Given the description of an element on the screen output the (x, y) to click on. 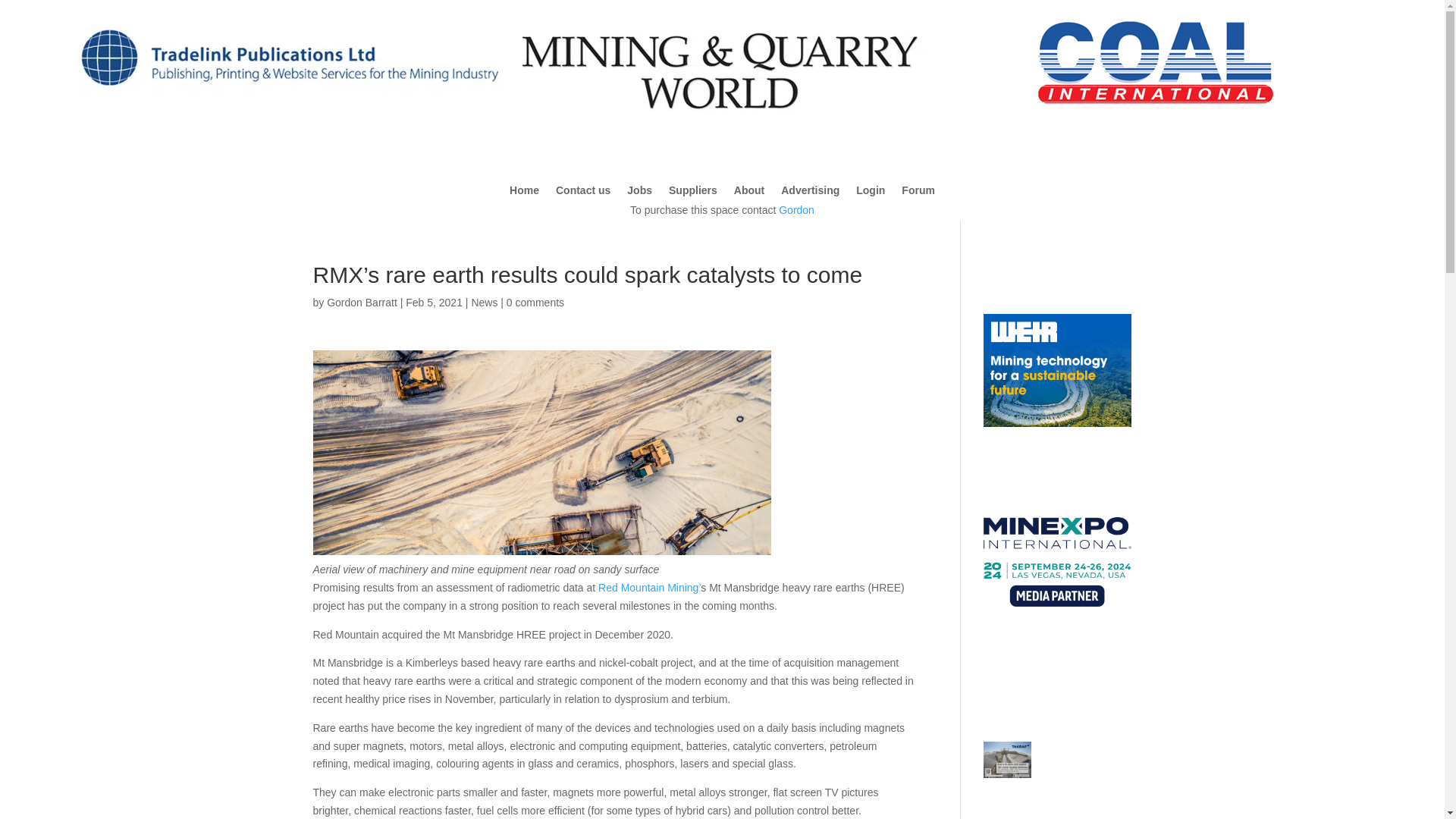
About (748, 193)
Home (523, 193)
Login (870, 193)
News (483, 302)
Forum (917, 193)
Coal internalional (1156, 61)
Contact us (583, 193)
Jobs (639, 193)
0 comments (535, 302)
Suppliers (692, 193)
Posts by Gordon Barratt (361, 302)
Gordon Barratt (361, 302)
tradelinkpublications logo (288, 105)
Advertising (810, 193)
Gordon (795, 209)
